Given the description of an element on the screen output the (x, y) to click on. 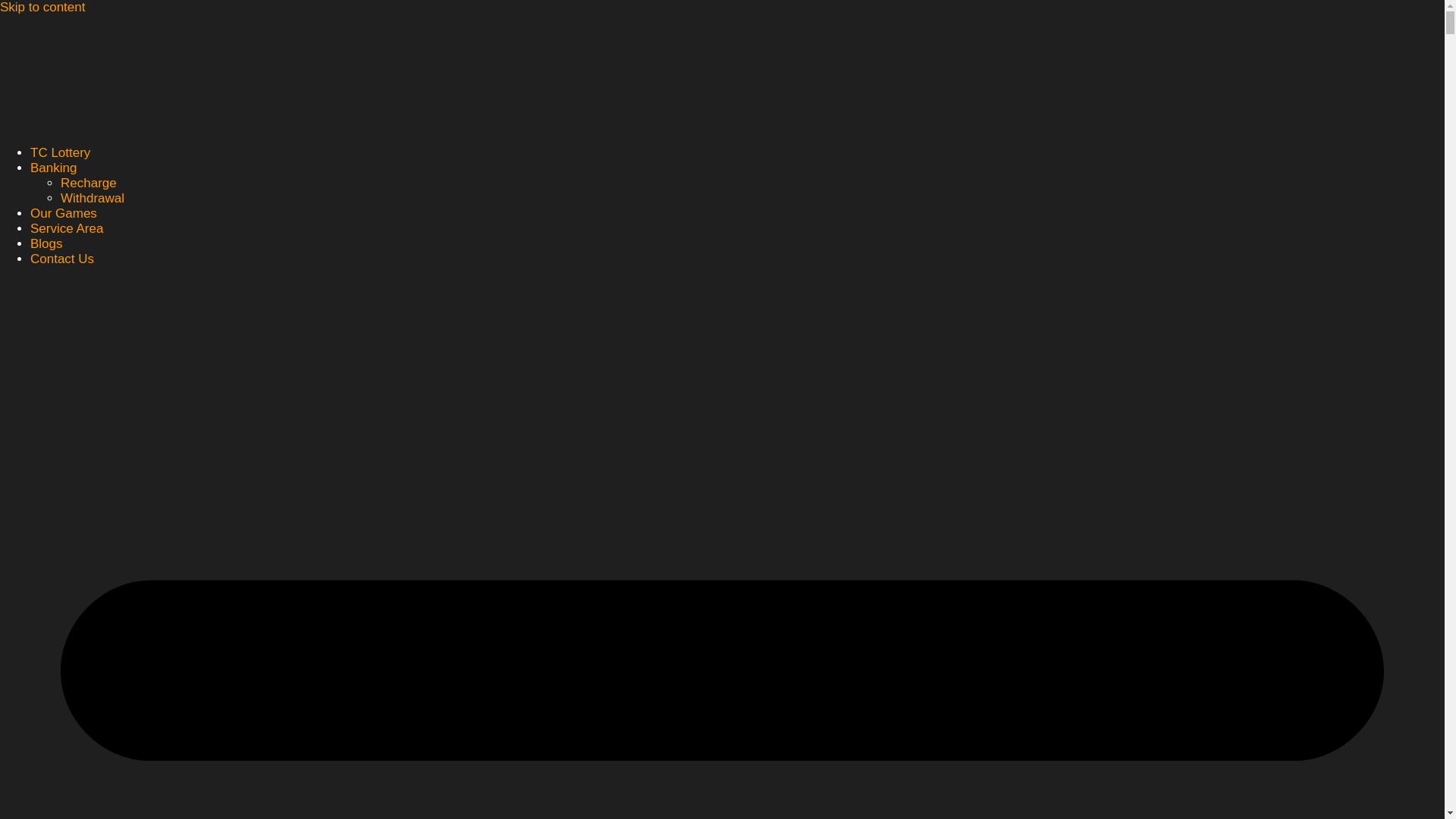
Skip to content (42, 7)
Withdrawal (92, 197)
Service Area (66, 228)
Blogs (46, 243)
Recharge (88, 183)
Banking (53, 167)
TC Lottery (60, 152)
Our Games (63, 213)
Skip to content (42, 7)
Contact Us (62, 258)
